Given the description of an element on the screen output the (x, y) to click on. 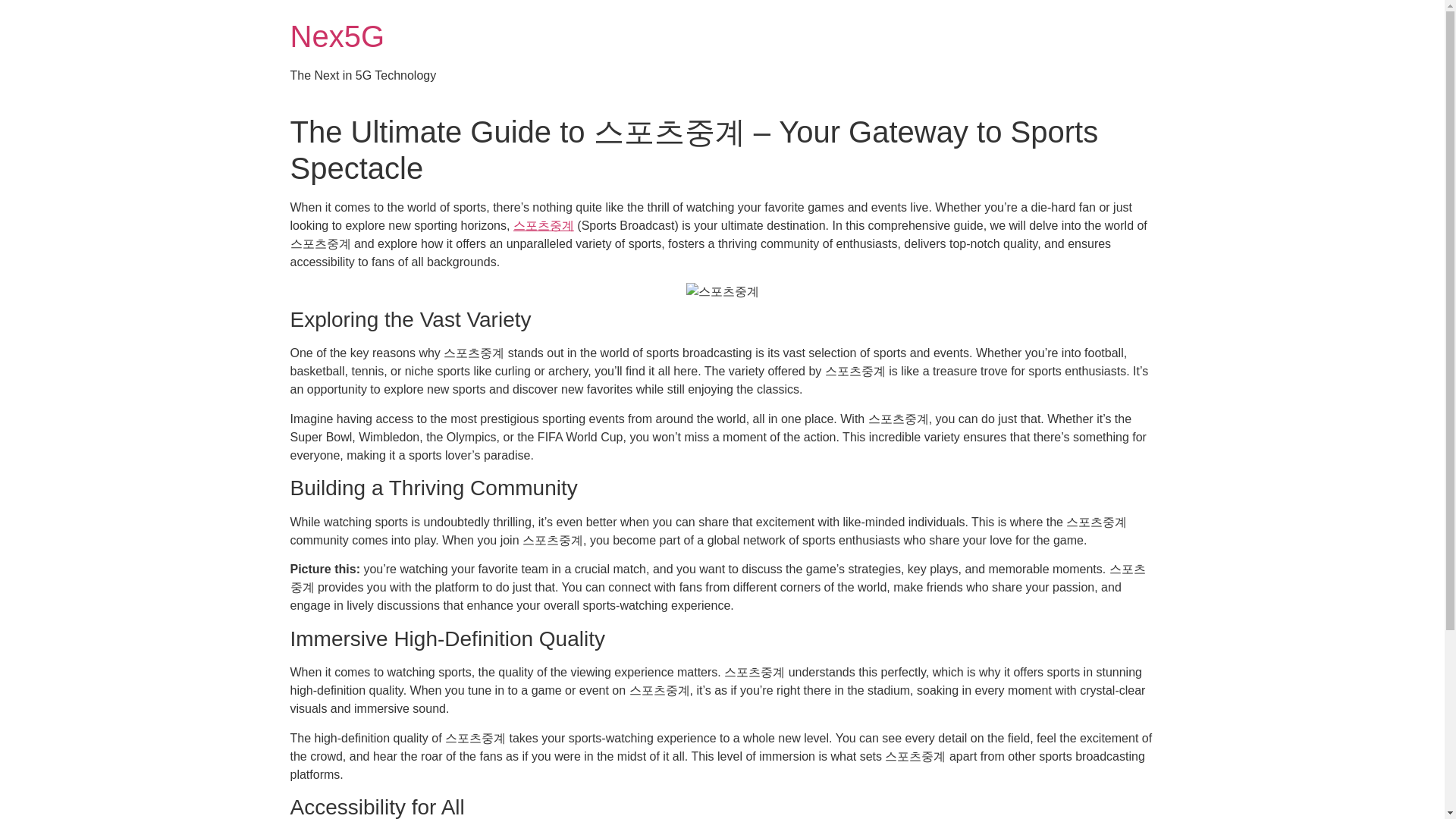
Home (336, 36)
Nex5G (336, 36)
